Given the description of an element on the screen output the (x, y) to click on. 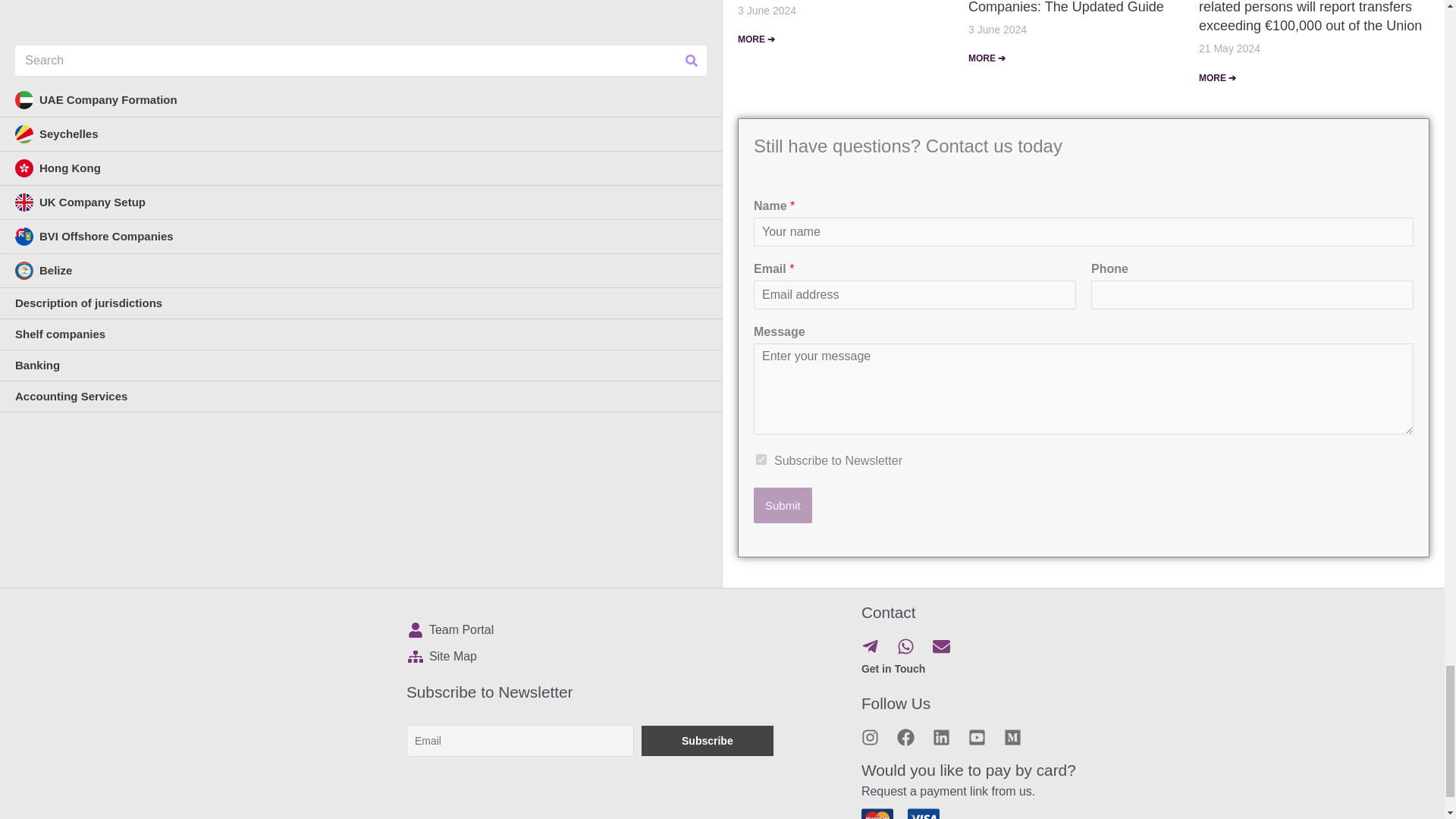
Subscribe (707, 740)
Subscribe to Newsletter (761, 459)
